Given the description of an element on the screen output the (x, y) to click on. 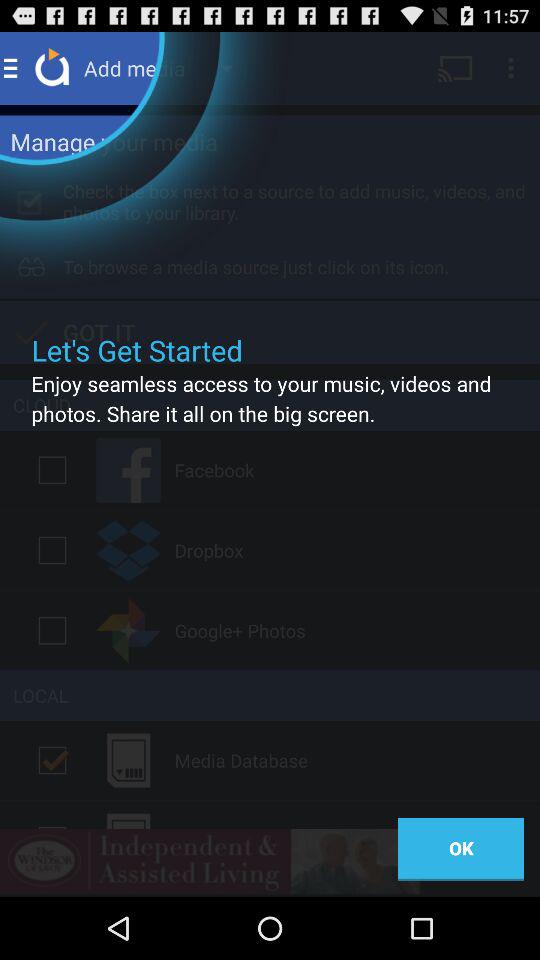
open media database (52, 760)
